Given the description of an element on the screen output the (x, y) to click on. 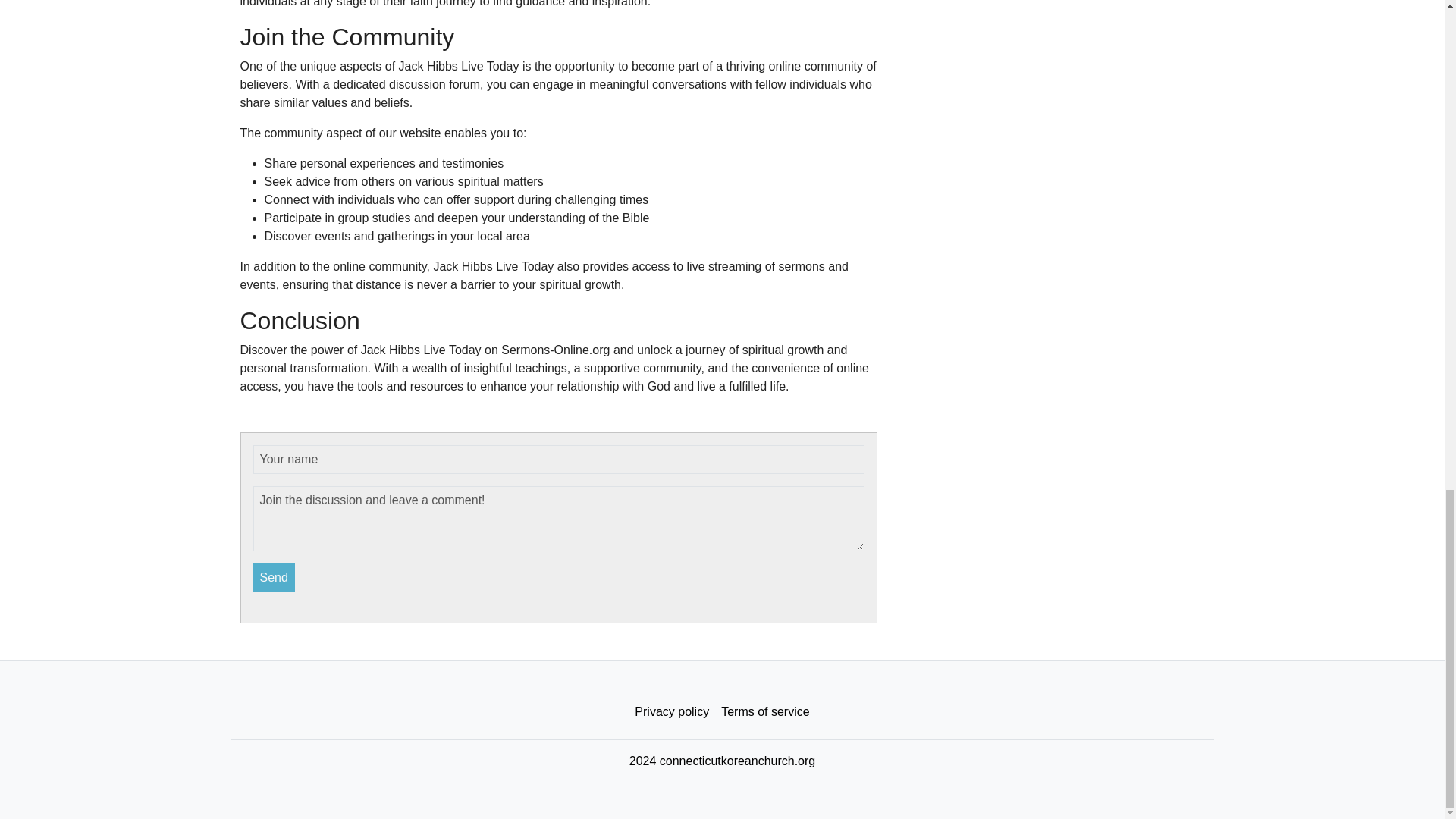
Privacy policy (671, 711)
Terms of service (764, 711)
Send (274, 577)
Send (274, 577)
